Given the description of an element on the screen output the (x, y) to click on. 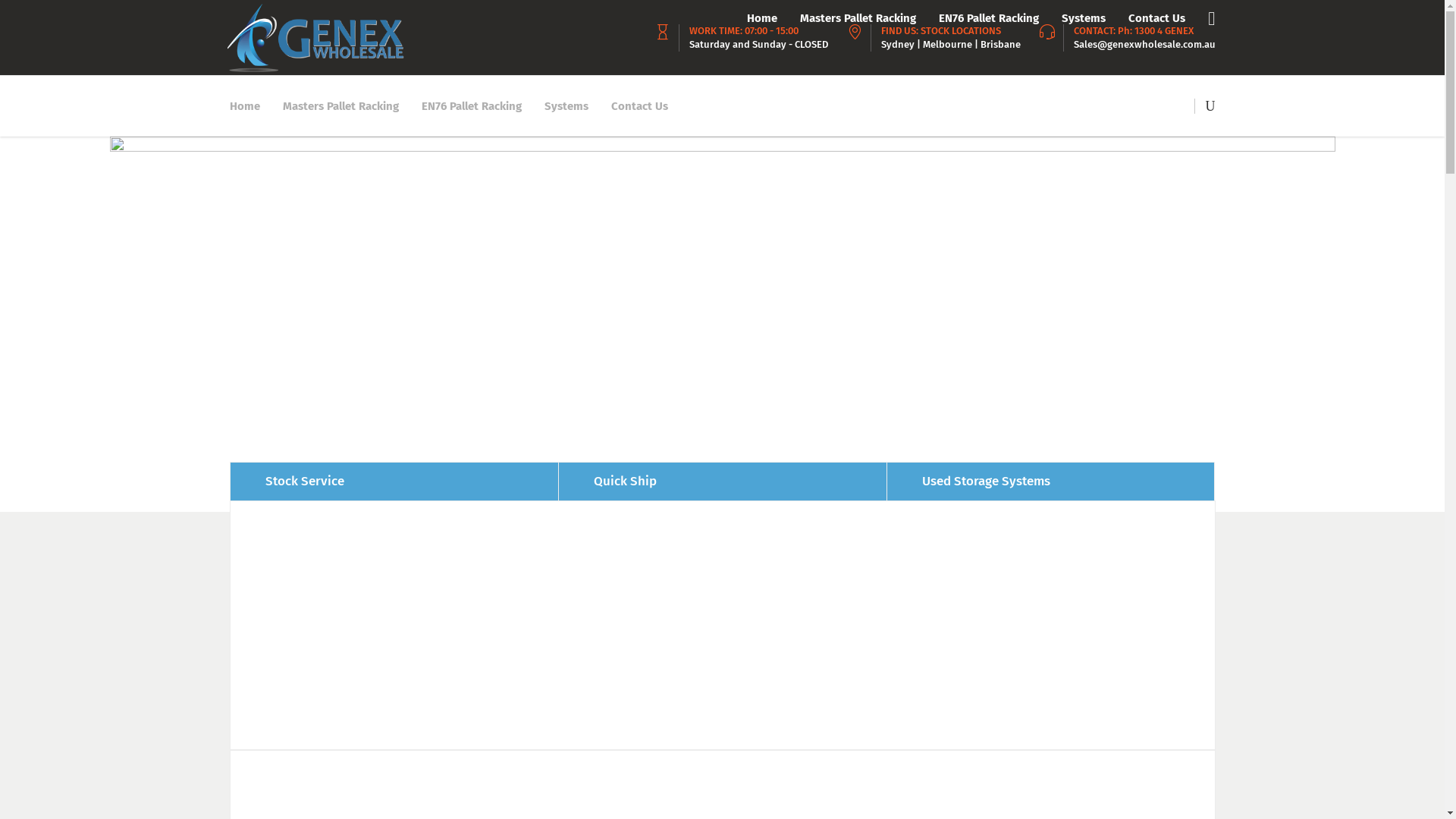
Contact Us Element type: text (638, 105)
Home Element type: text (249, 105)
Stock Service Element type: text (393, 480)
Systems Element type: text (565, 105)
Quick Ship Element type: text (722, 480)
EN76 Pallet Racking Element type: text (470, 105)
Masters Pallet Racking Element type: text (340, 105)
Used Storage Systems Element type: text (1050, 480)
Search Element type: text (1171, 162)
